Given the description of an element on the screen output the (x, y) to click on. 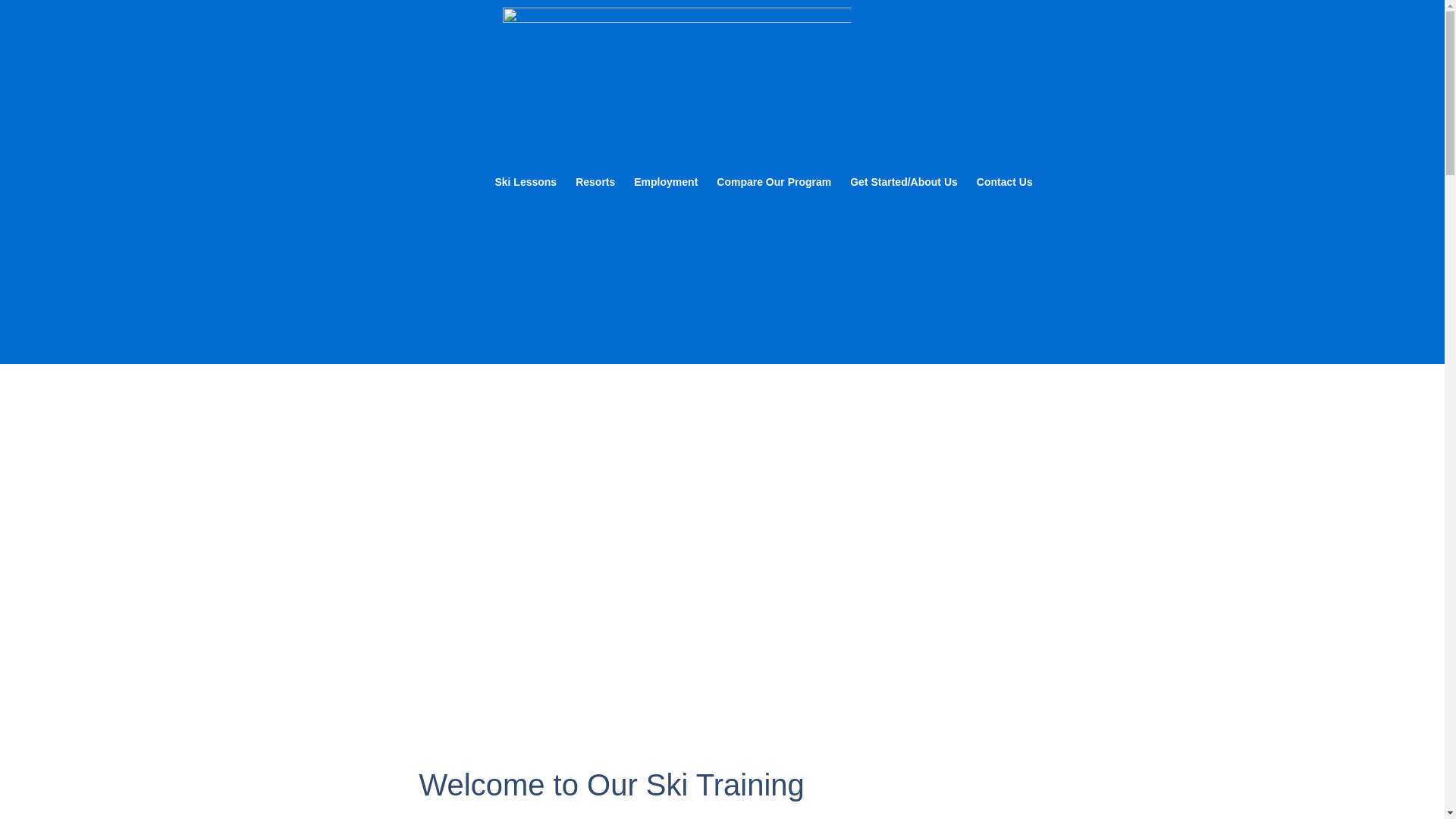
Resorts (595, 182)
Compare Our Program (773, 182)
Contact Us (1005, 182)
Ski Lessons (525, 182)
Employment (665, 182)
